Given the description of an element on the screen output the (x, y) to click on. 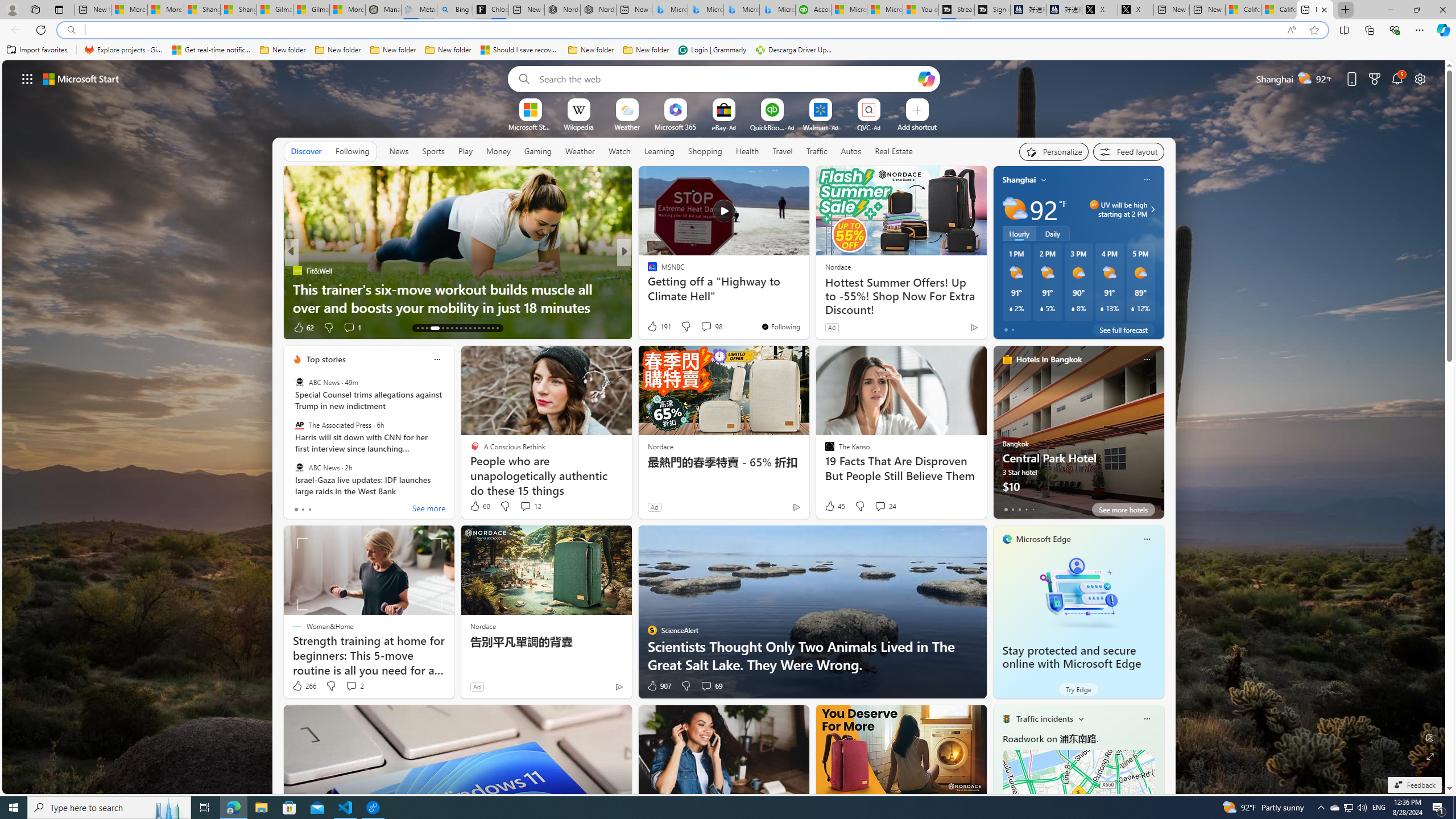
2 Like (651, 327)
AutomationID: backgroundImagePicture (723, 426)
View comments 98 Comment (710, 326)
Traffic Title Traffic Light (1005, 718)
Accounting Software for Accountants, CPAs and Bookkeepers (812, 9)
AutomationID: waffle (27, 78)
